Given the description of an element on the screen output the (x, y) to click on. 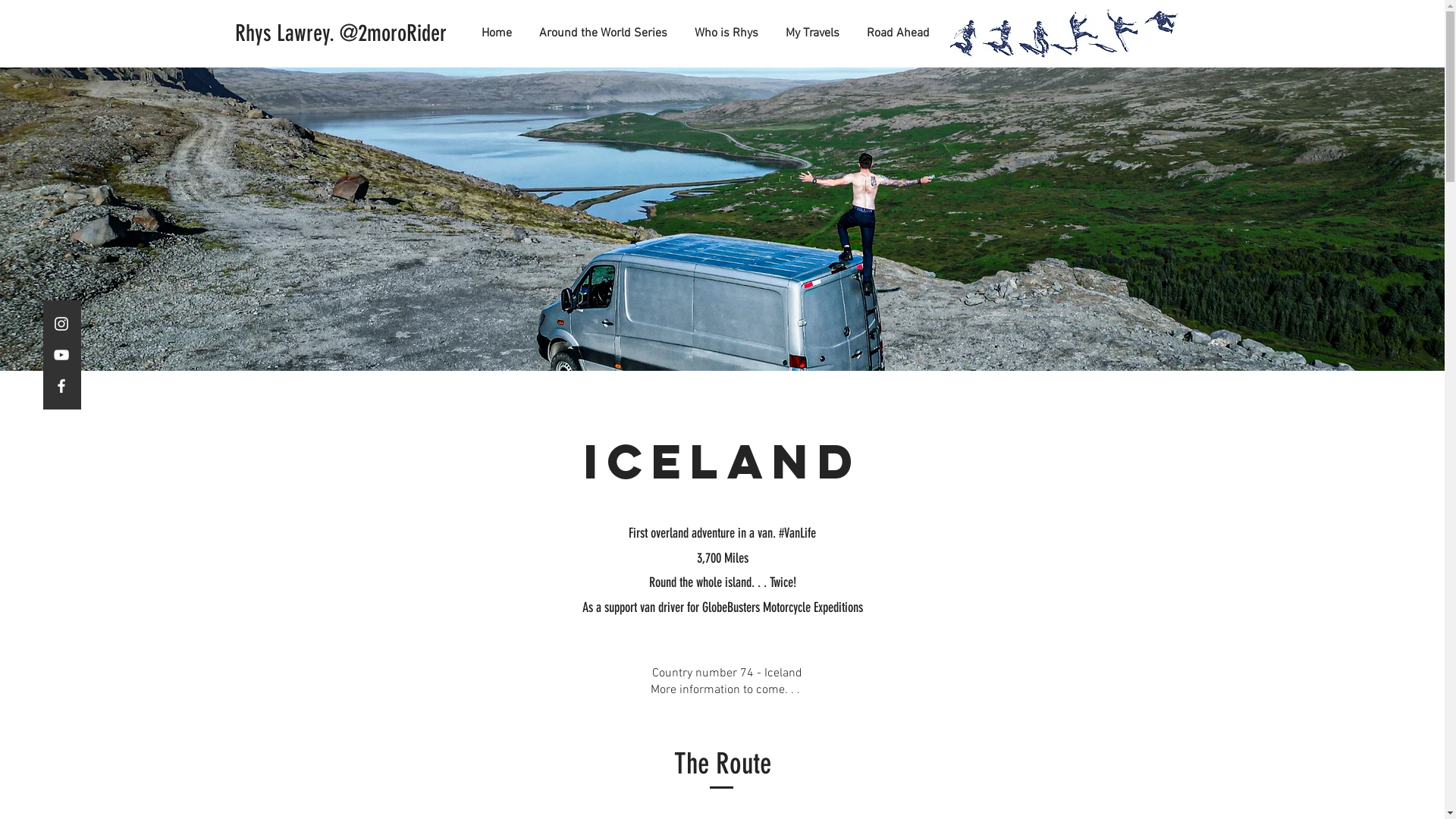
Rhys Lawrey. @2moroRider Element type: text (340, 33)
Who is Rhys Element type: text (719, 33)
Road Ahead Element type: text (891, 33)
Home Element type: text (489, 33)
Around the World Series Element type: text (596, 33)
